Given the description of an element on the screen output the (x, y) to click on. 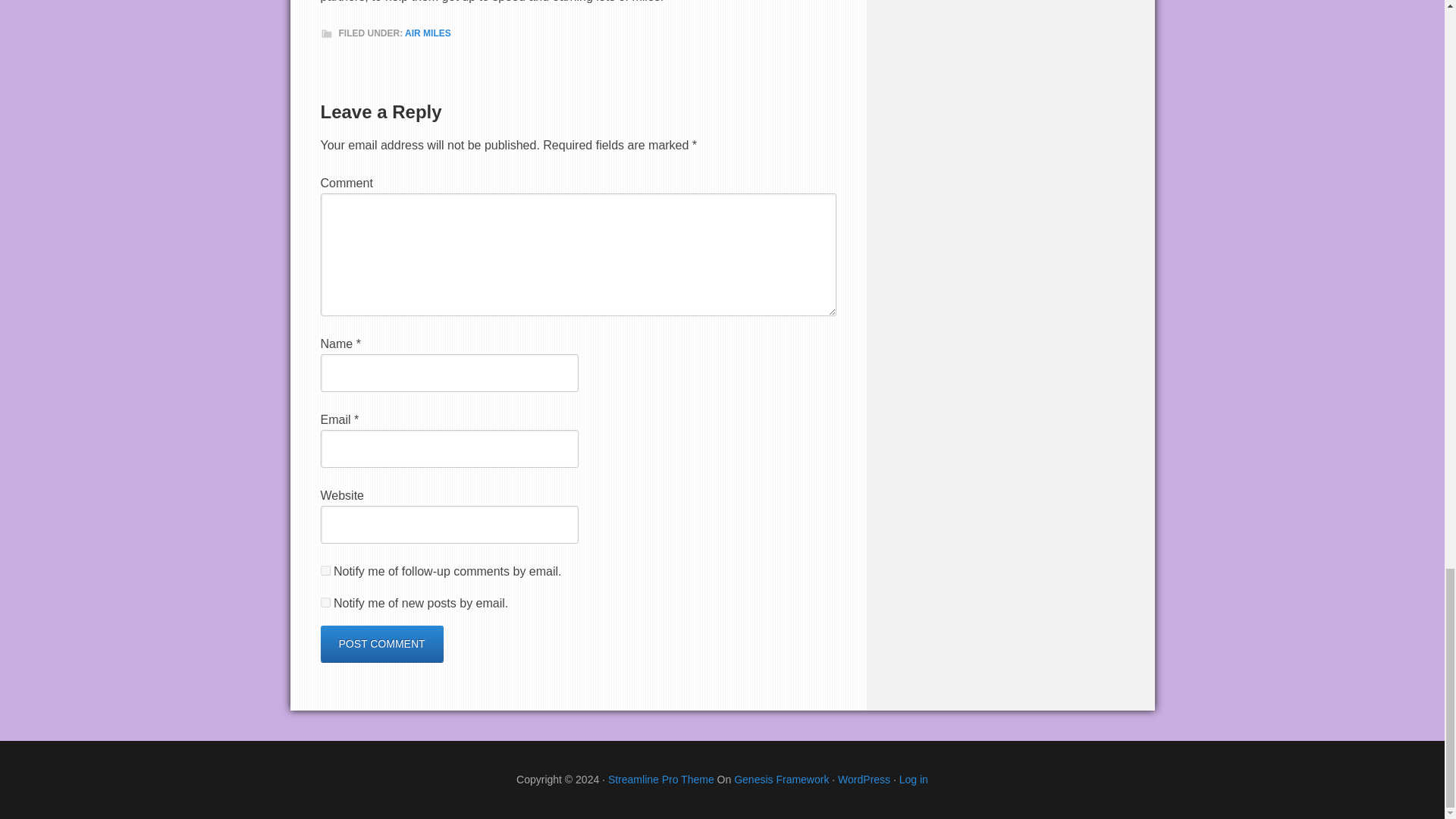
Post Comment (381, 643)
subscribe (325, 570)
subscribe (325, 602)
Post Comment (381, 643)
AIR MILES (427, 32)
